Given the description of an element on the screen output the (x, y) to click on. 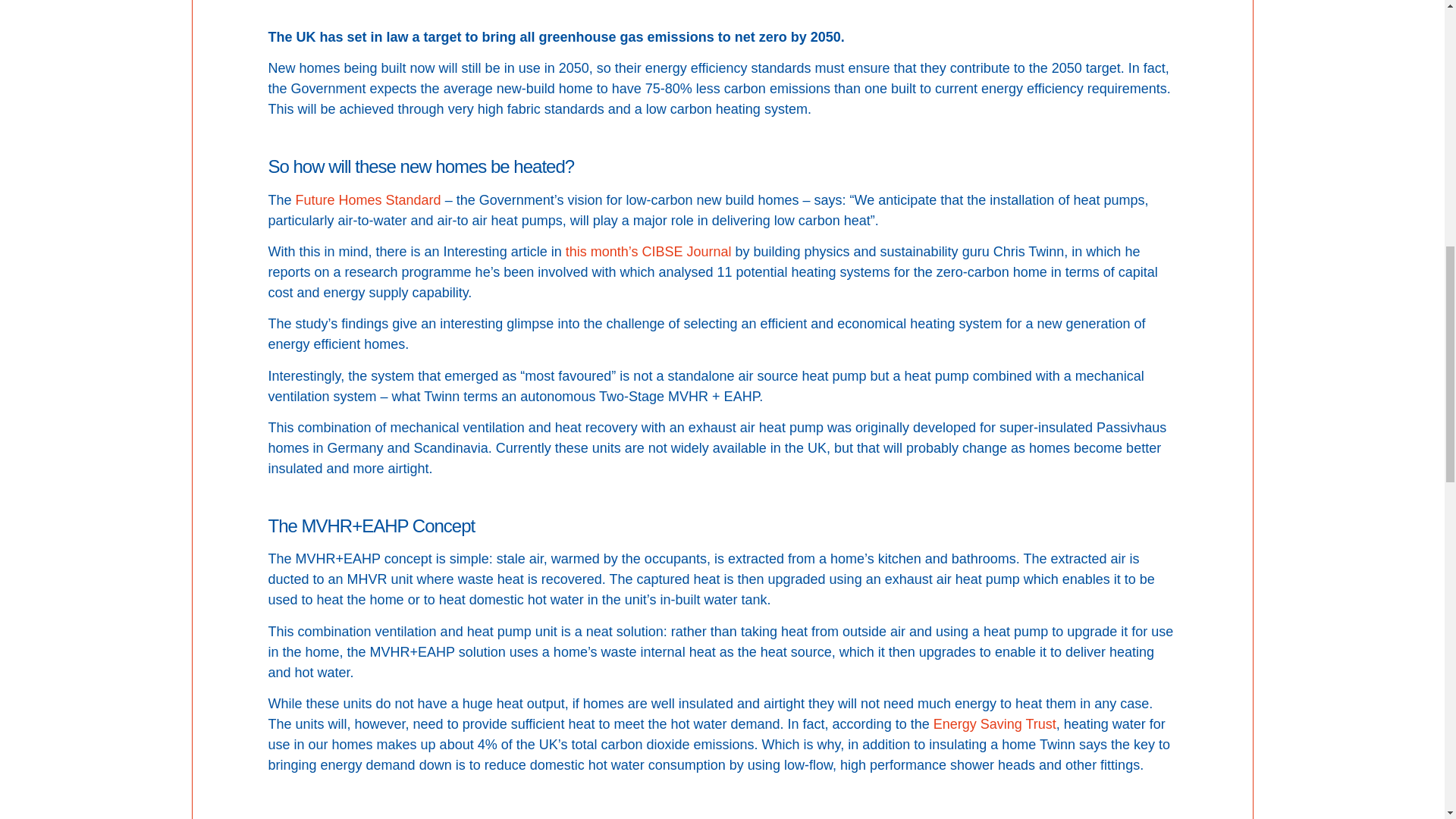
Future Homes Standard (368, 200)
